Given the description of an element on the screen output the (x, y) to click on. 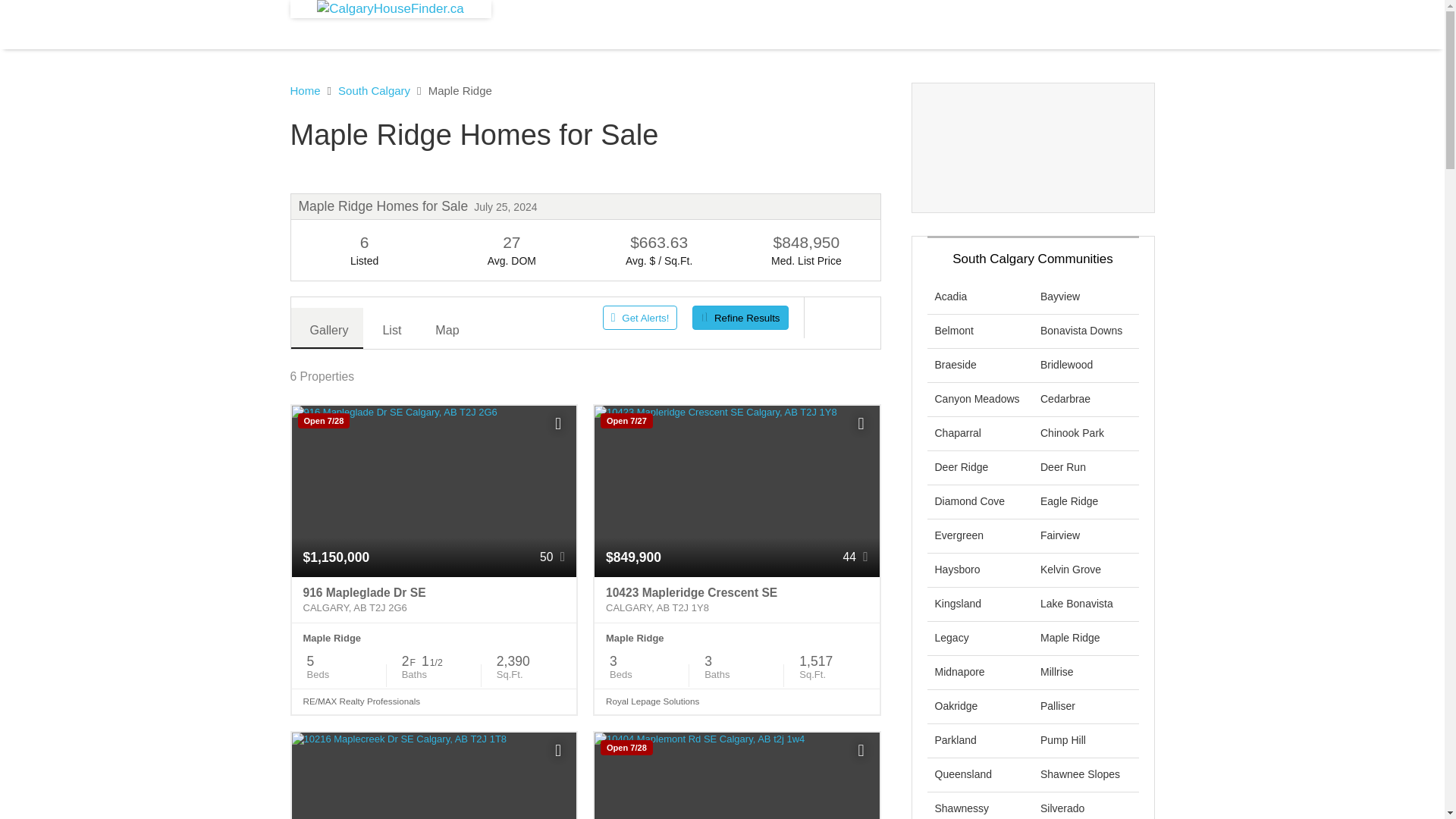
916 Mapleglade Dr SE Calgary,  AB T2J 2G6 (433, 600)
